Given the description of an element on the screen output the (x, y) to click on. 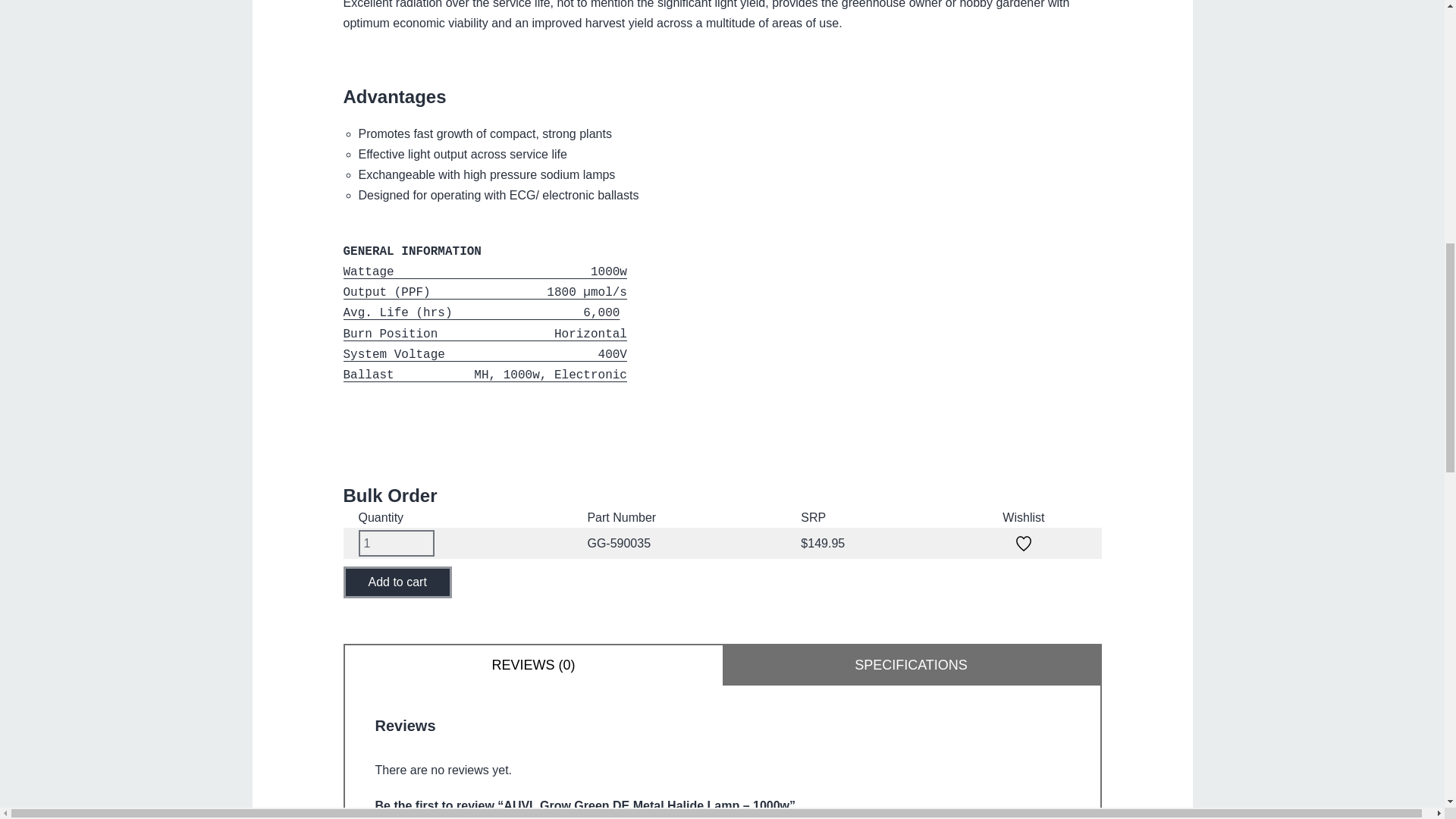
1 (395, 542)
Qty (395, 542)
Add to wishlist (1023, 543)
